Given the description of an element on the screen output the (x, y) to click on. 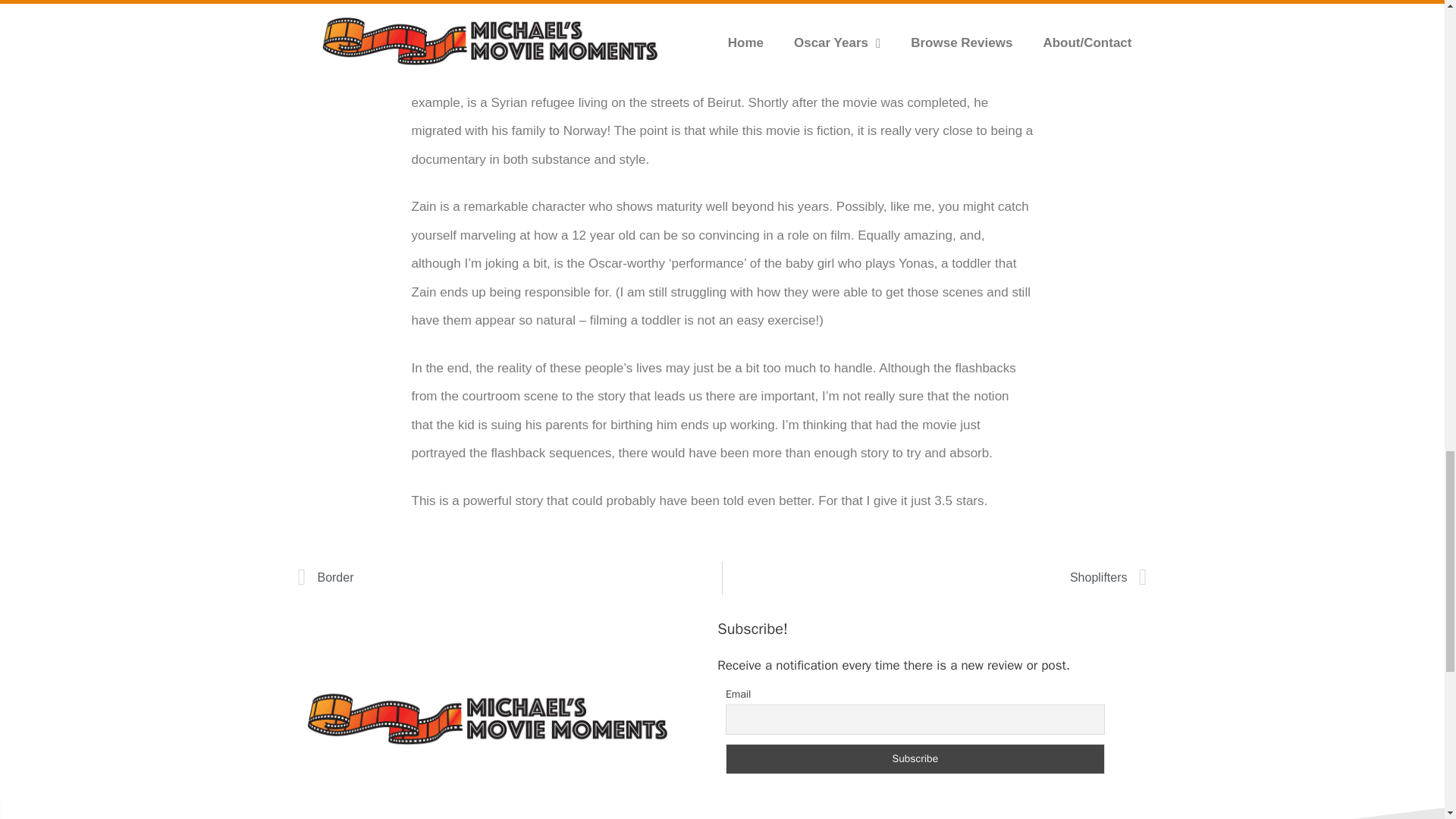
Subscribe (915, 758)
